Given the description of an element on the screen output the (x, y) to click on. 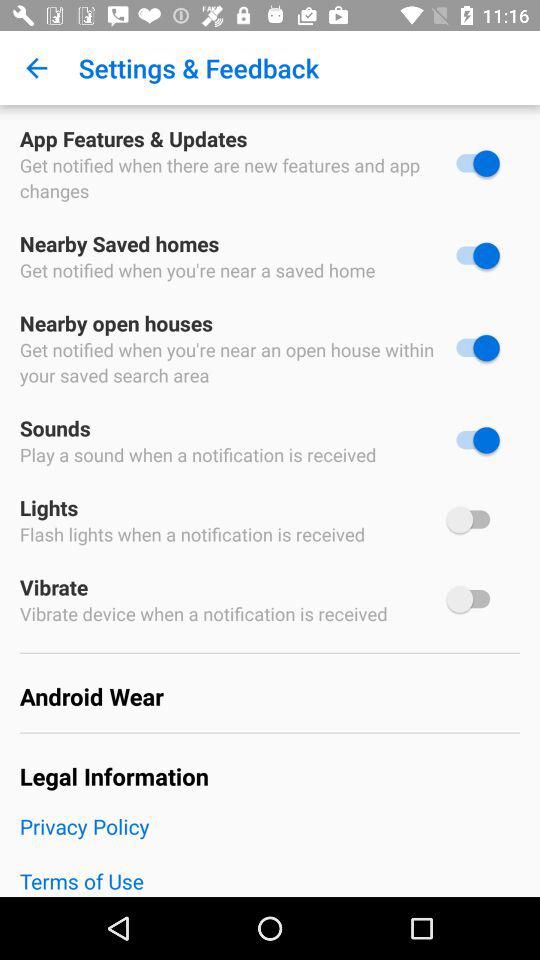
toggle lights on and off when a notification is received (473, 519)
